Given the description of an element on the screen output the (x, y) to click on. 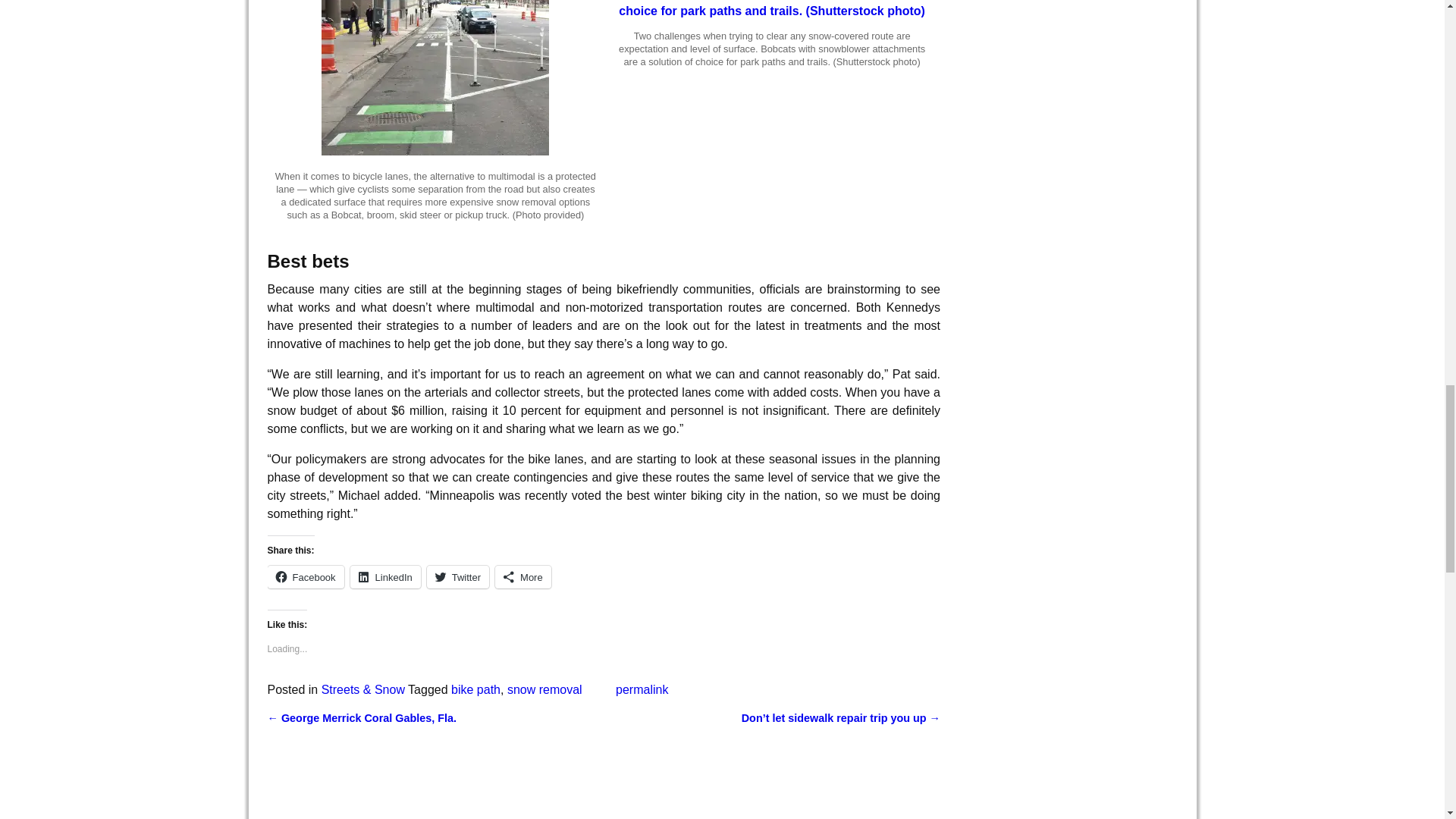
Click to share on Facebook (304, 576)
Click to share on Twitter (457, 576)
Click to share on LinkedIn (385, 576)
LinkedIn (385, 576)
Twitter (457, 576)
More (523, 576)
Facebook (304, 576)
